Given the description of an element on the screen output the (x, y) to click on. 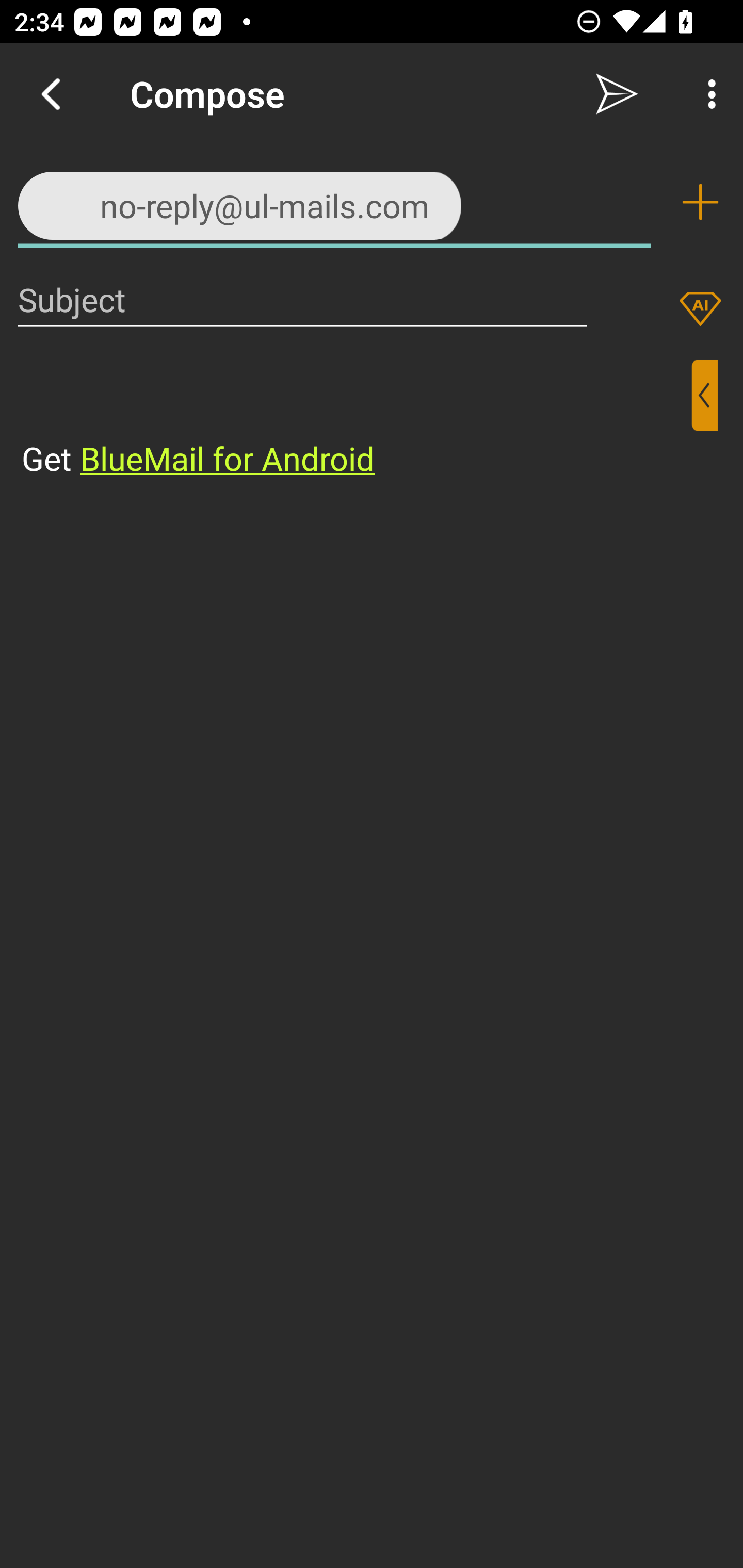
Navigate up (50, 93)
Send (616, 93)
More Options (706, 93)
<no-reply@ul-mails.com>,  (334, 201)
Add recipient (To) (699, 201)
Subject (302, 299)


⁣Get BlueMail for Android ​ (355, 419)
